Given the description of an element on the screen output the (x, y) to click on. 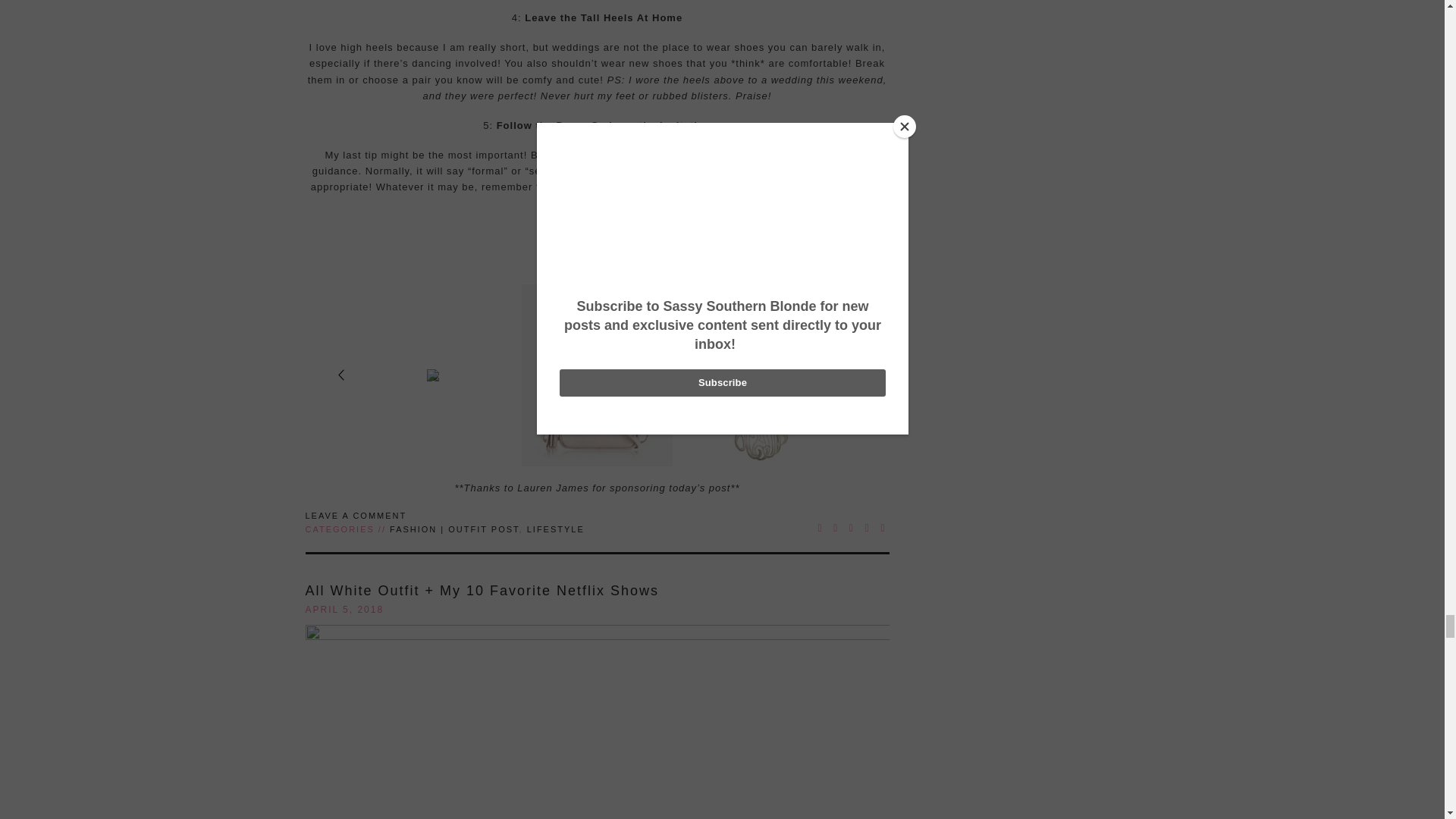
Share this post on Twitter! (835, 527)
